Given the description of an element on the screen output the (x, y) to click on. 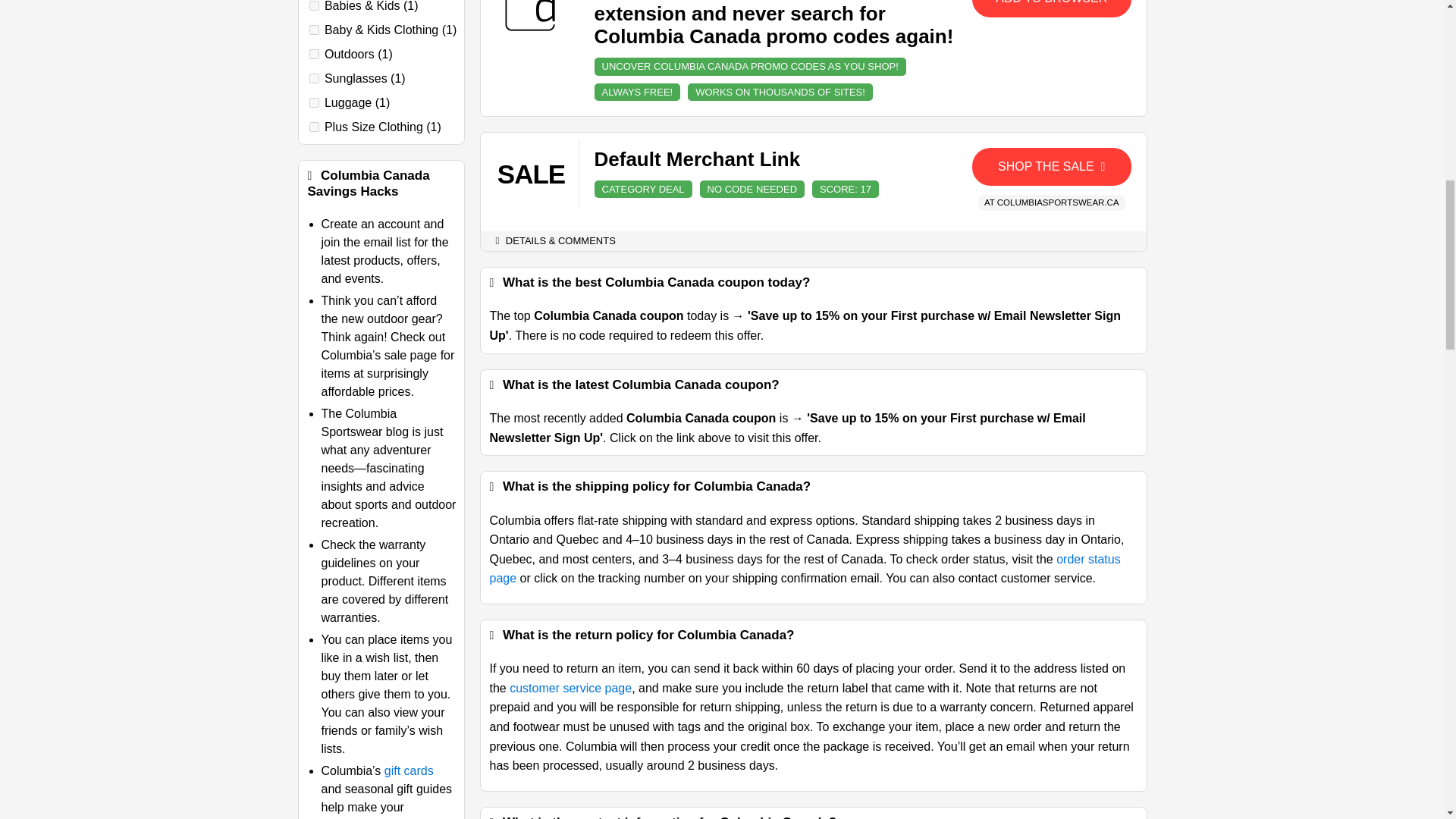
Click to open site (1051, 8)
Click to open site (1051, 166)
apparel-baby (313, 30)
outdoors (313, 53)
luggage (313, 102)
sunglasses (313, 78)
babies-kids (313, 5)
plus-size (313, 126)
